Given the description of an element on the screen output the (x, y) to click on. 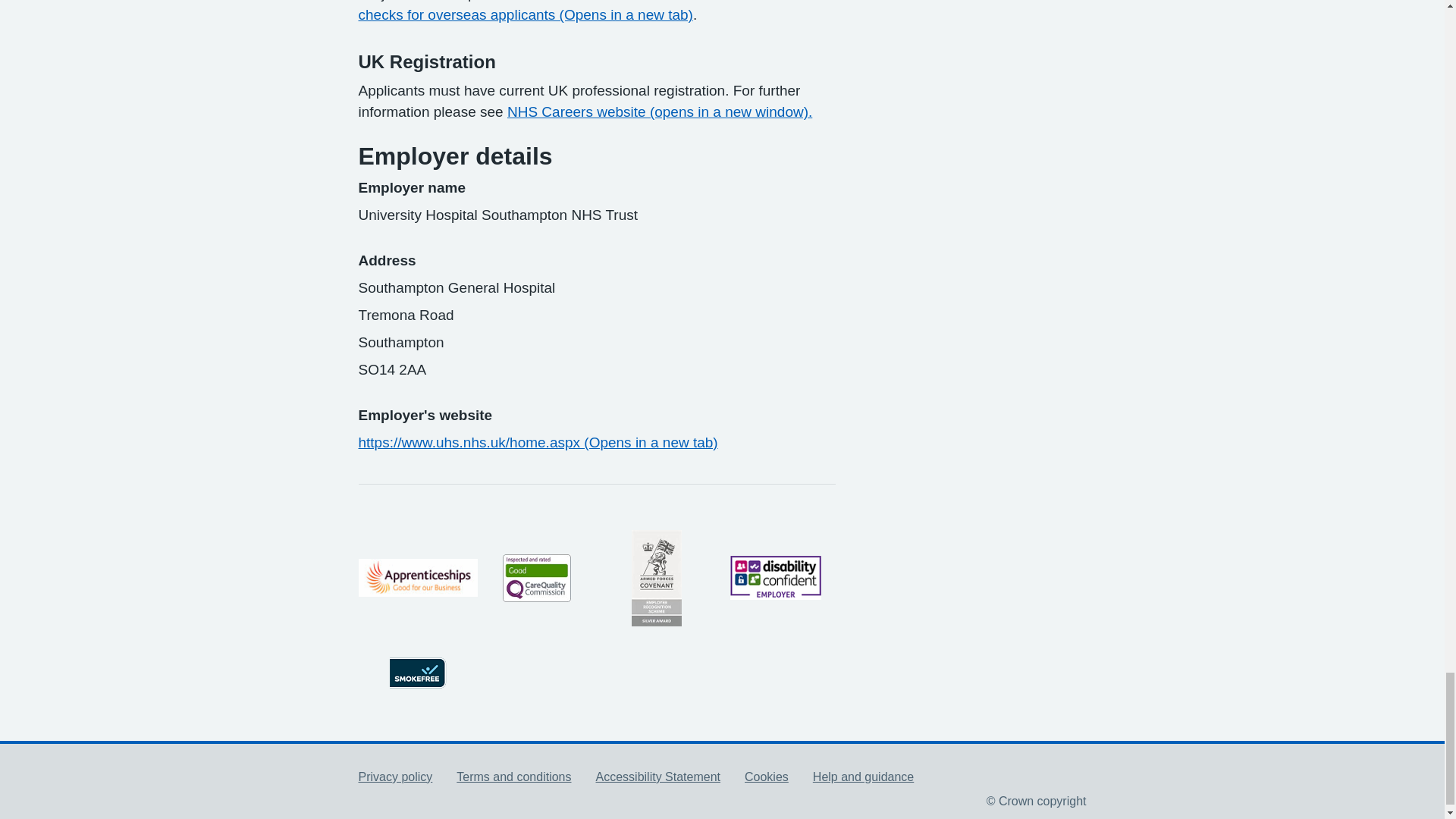
Help and guidance (863, 776)
Privacy policy (395, 776)
Cookies (766, 776)
Terms and conditions (513, 776)
Accessibility Statement (657, 776)
